Given the description of an element on the screen output the (x, y) to click on. 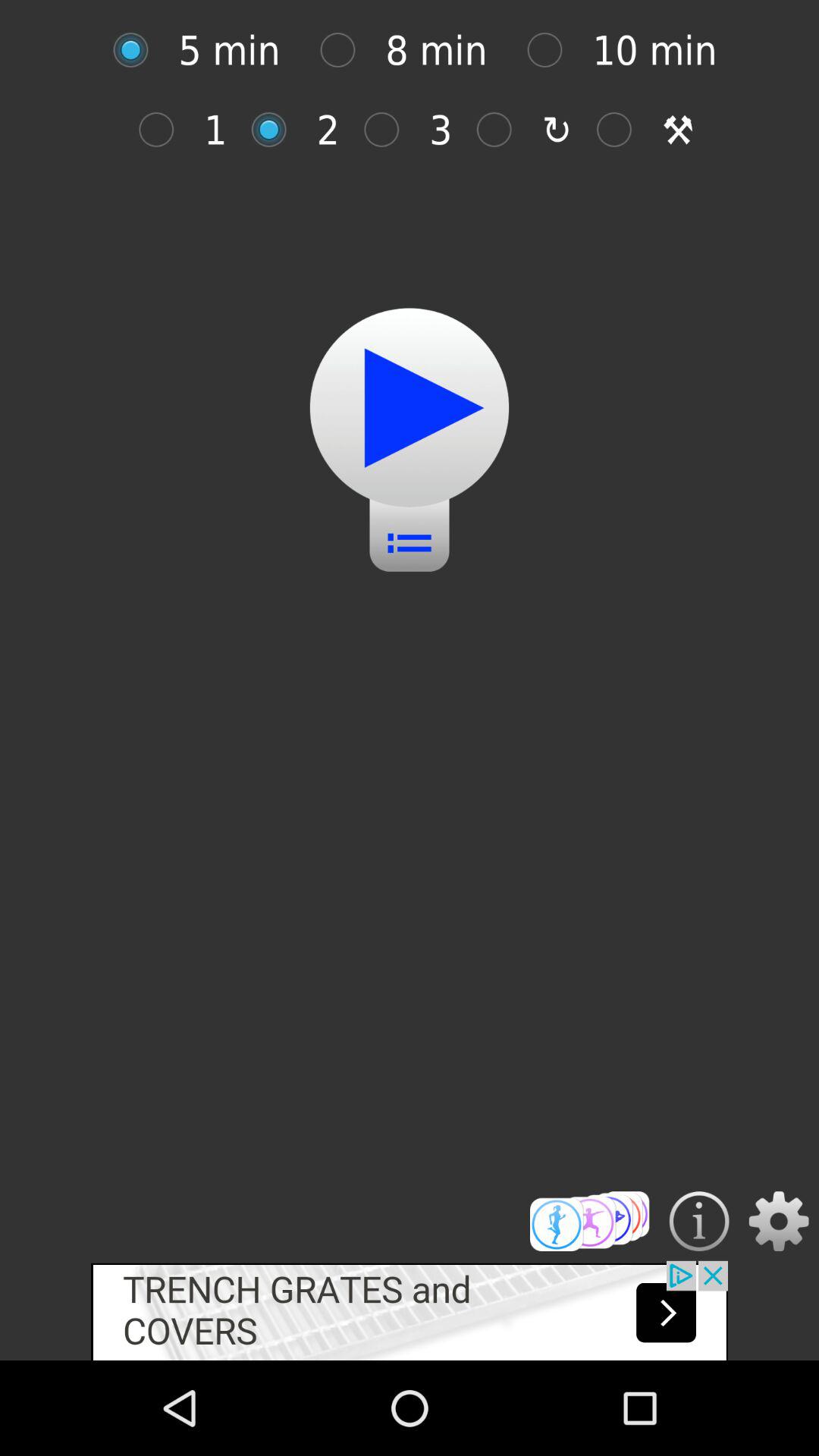
select option (276, 129)
